Given the description of an element on the screen output the (x, y) to click on. 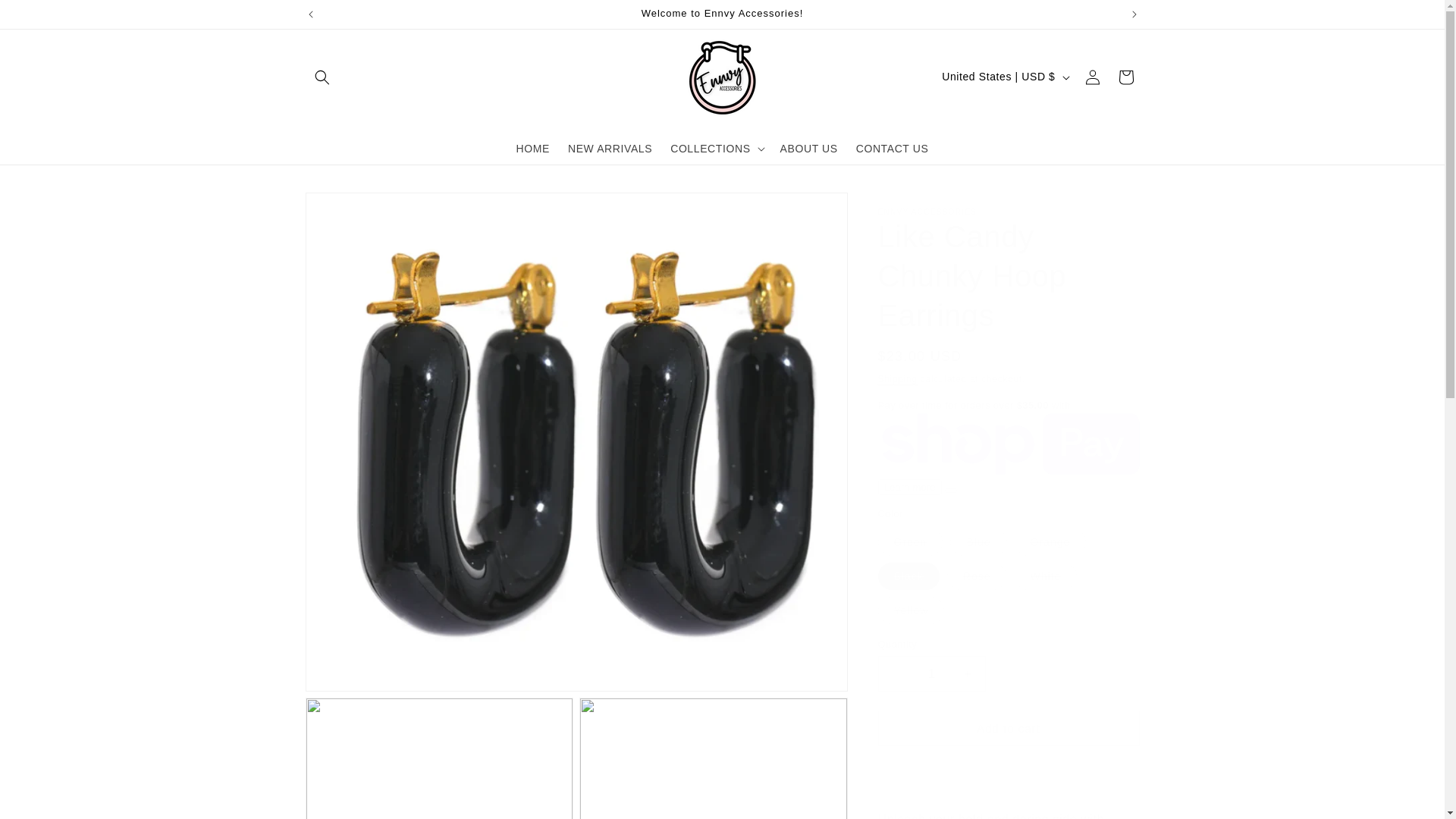
Skip to content (45, 17)
Open media 3 in modal (713, 758)
HOME (532, 147)
Open media 2 in modal (438, 758)
1 (931, 673)
NEW ARRIVALS (610, 147)
